Given the description of an element on the screen output the (x, y) to click on. 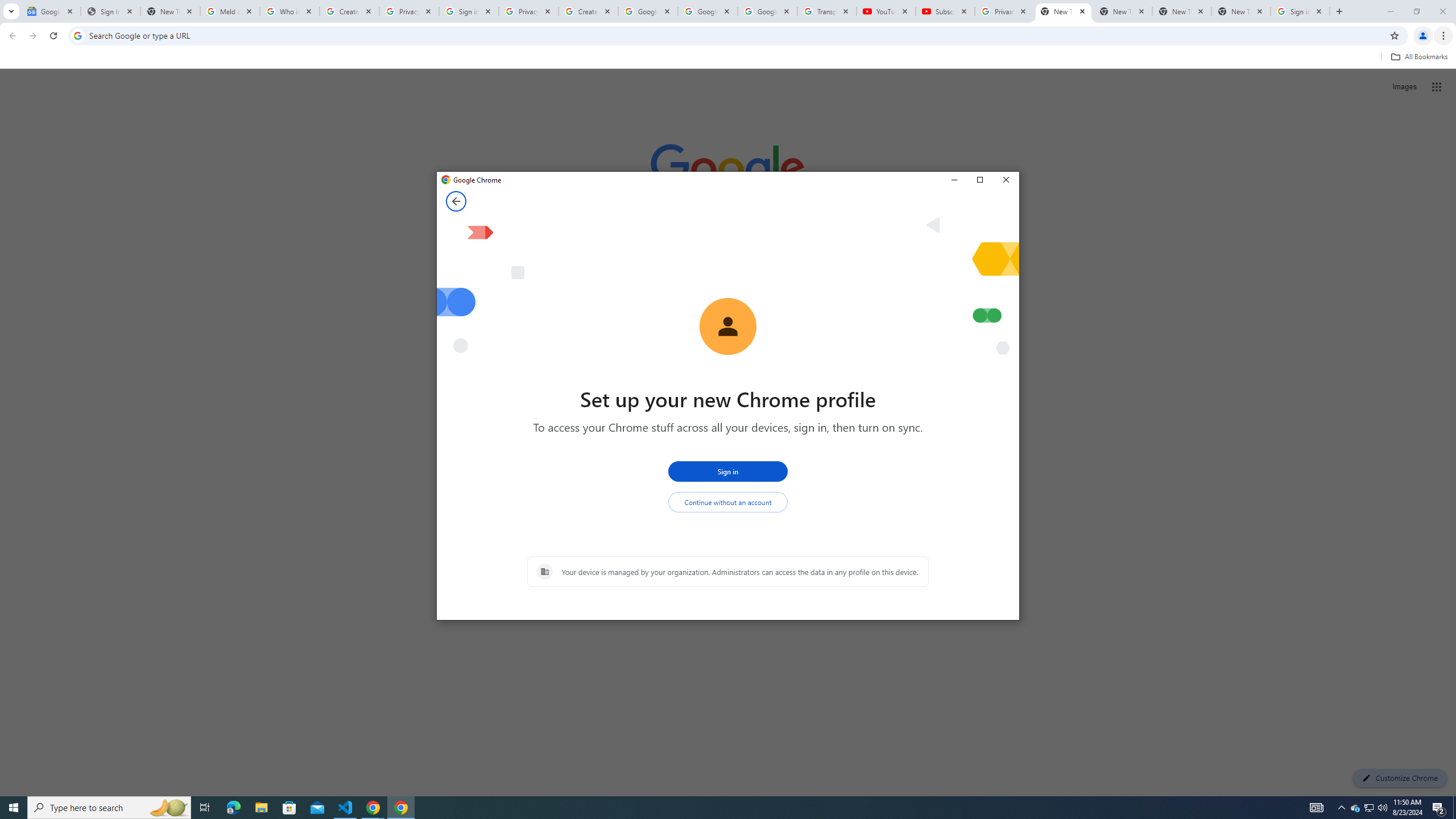
Maximize (979, 180)
